Given the description of an element on the screen output the (x, y) to click on. 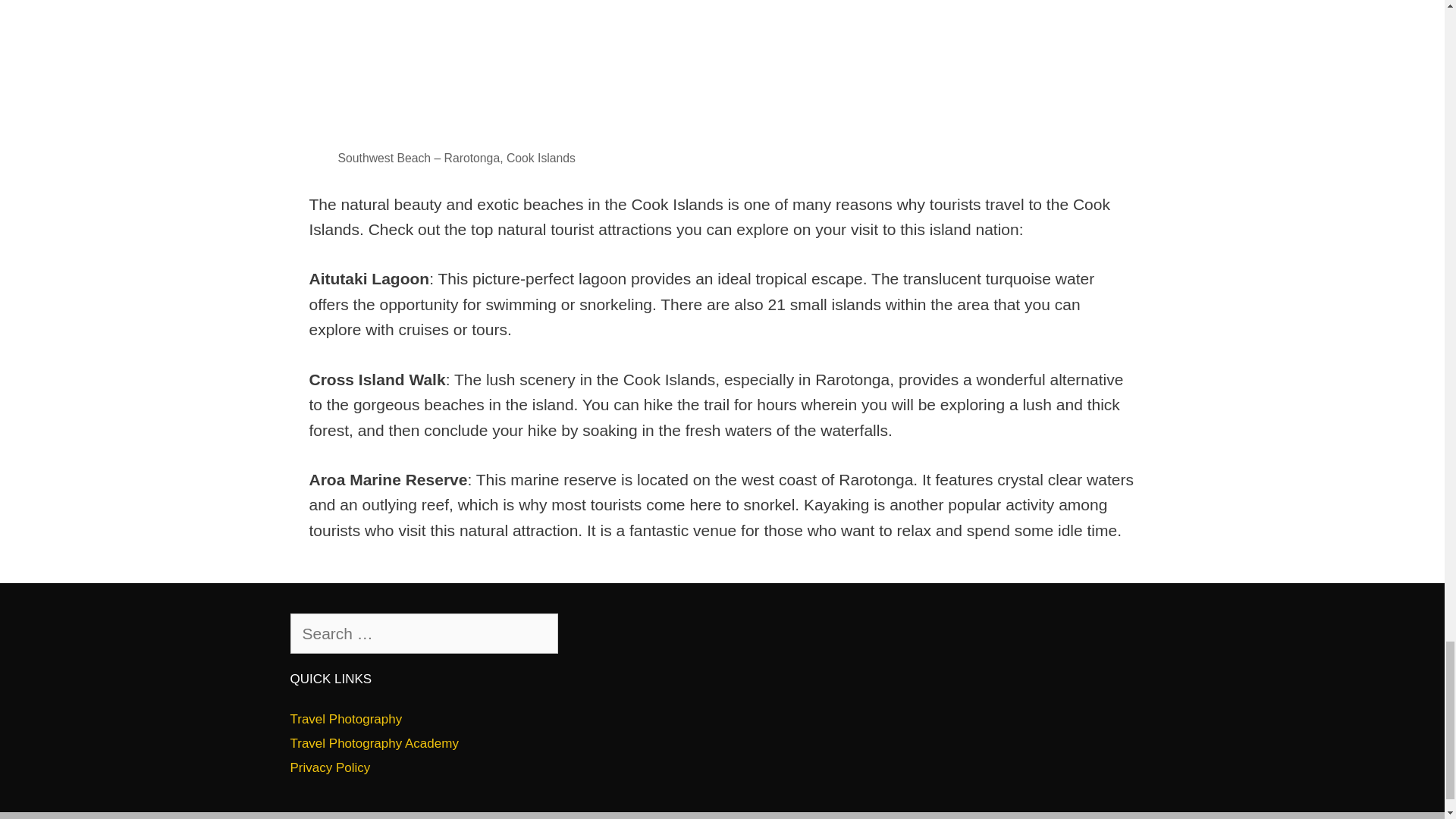
Privacy Policy (329, 767)
Travel Photography Academy (373, 743)
Travel Photography (345, 718)
Search for: (423, 633)
